Given the description of an element on the screen output the (x, y) to click on. 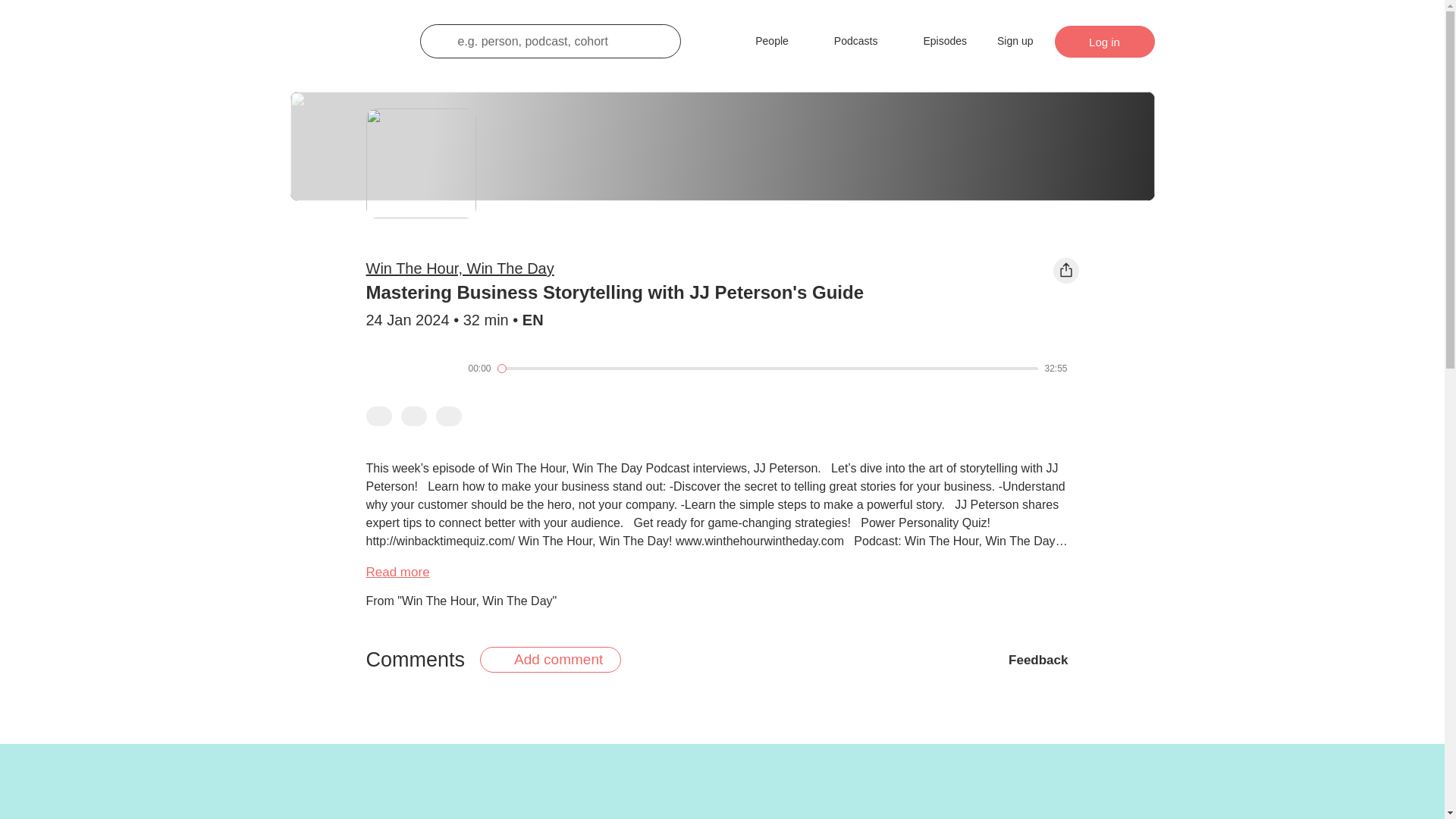
0 (768, 368)
Feedback (1043, 659)
People (761, 40)
Podcasts (844, 40)
Add comment (550, 659)
Win The Hour, Win The Day (459, 268)
Episodes (933, 40)
Sign up (1014, 41)
Log in (1104, 41)
Read more (397, 572)
